Given the description of an element on the screen output the (x, y) to click on. 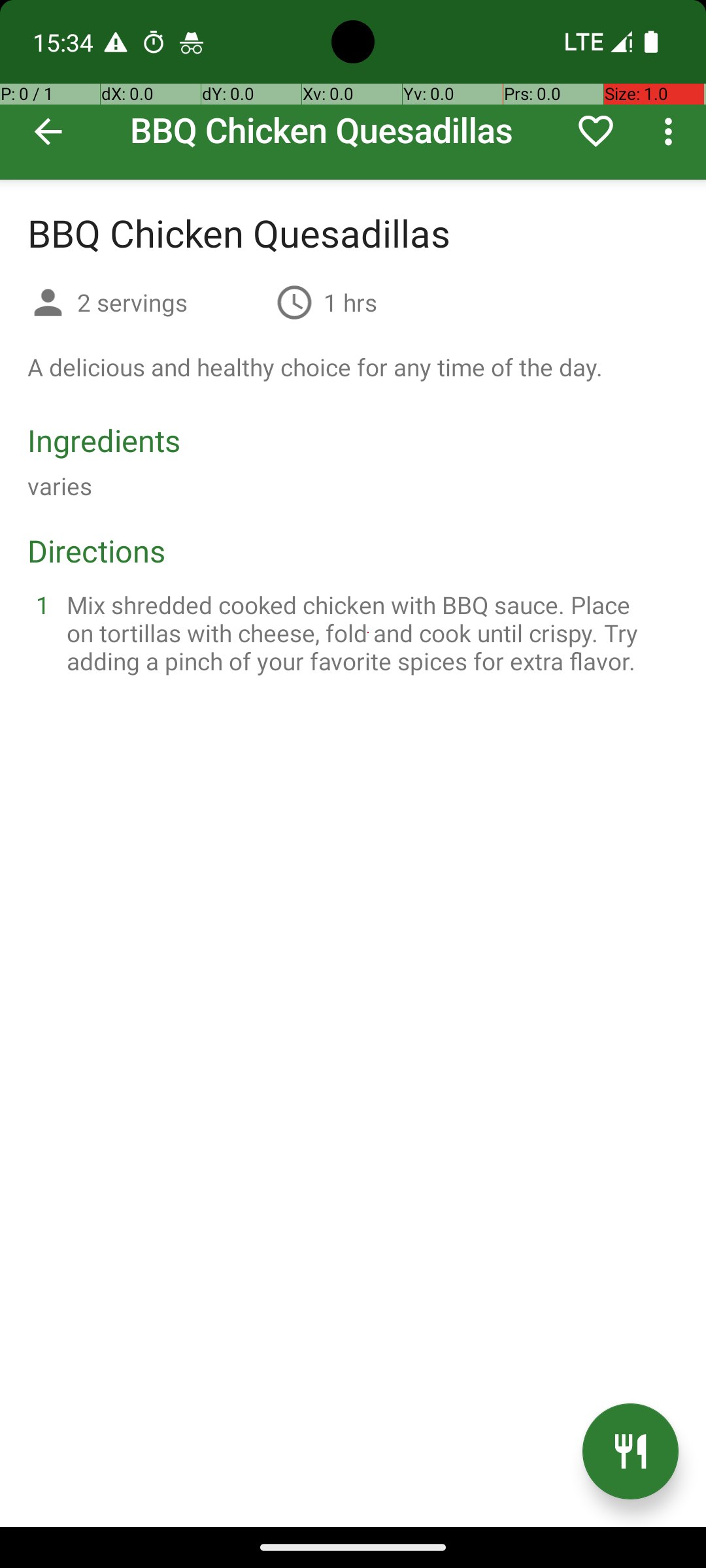
varies Element type: android.widget.TextView (59, 485)
Mix shredded cooked chicken with BBQ sauce. Place on tortillas with cheese, fold and cook until crispy. Try adding a pinch of your favorite spices for extra flavor. Element type: android.widget.TextView (368, 632)
